Given the description of an element on the screen output the (x, y) to click on. 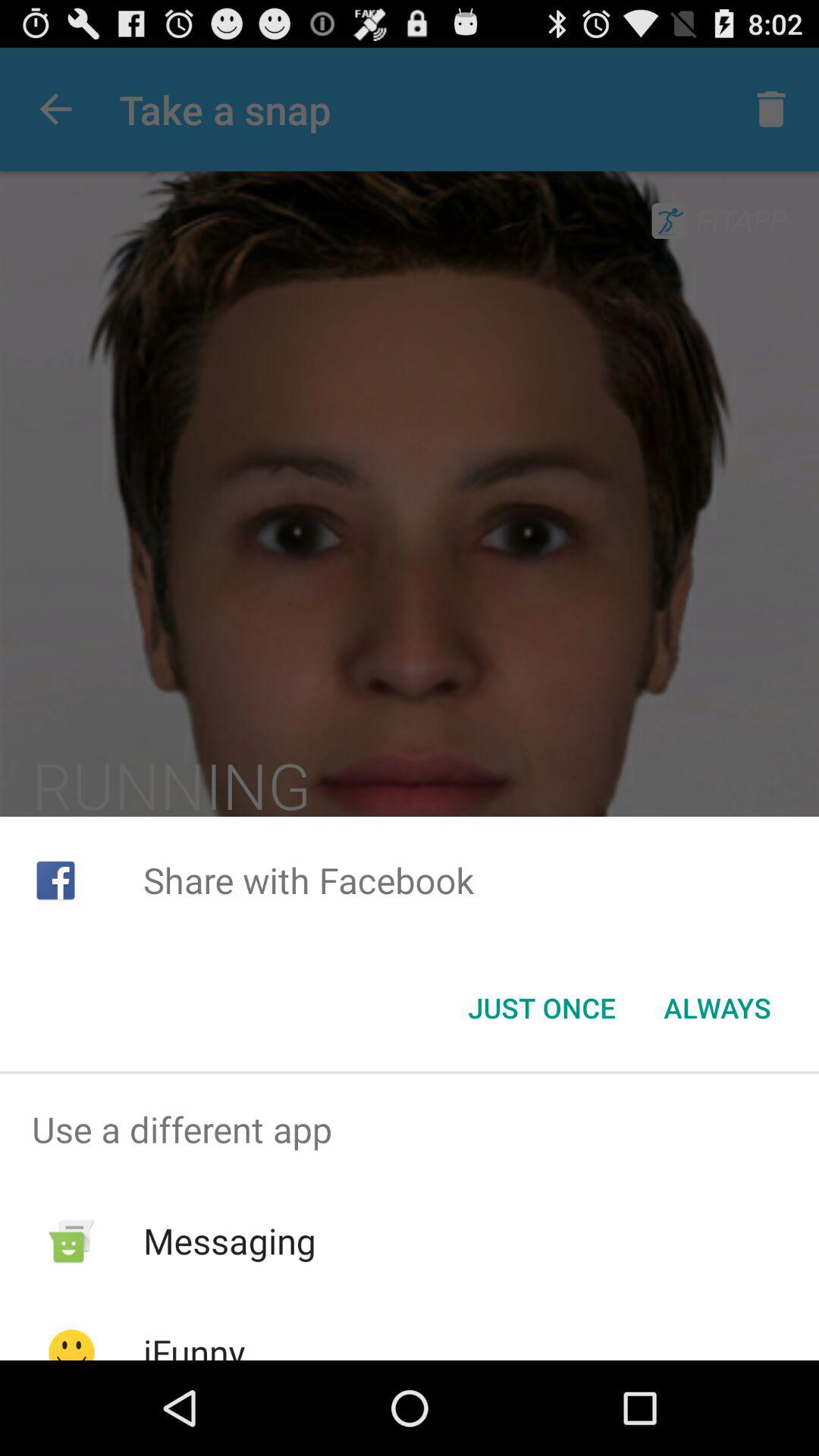
launch the icon below the messaging item (194, 1344)
